Given the description of an element on the screen output the (x, y) to click on. 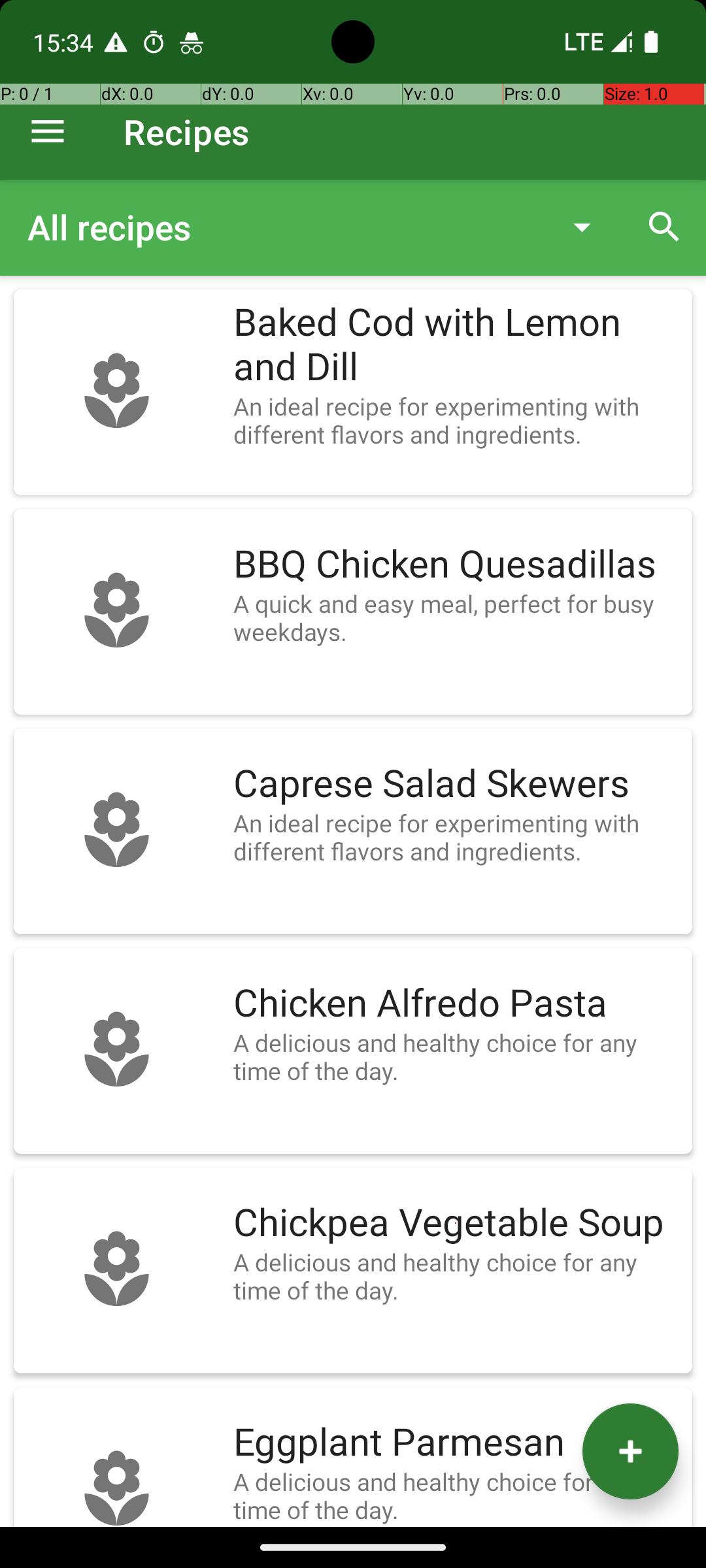
BBQ Chicken Quesadillas Element type: android.widget.TextView (455, 564)
Chickpea Vegetable Soup Element type: android.widget.TextView (455, 1222)
Eggplant Parmesan Element type: android.widget.TextView (455, 1442)
